Given the description of an element on the screen output the (x, y) to click on. 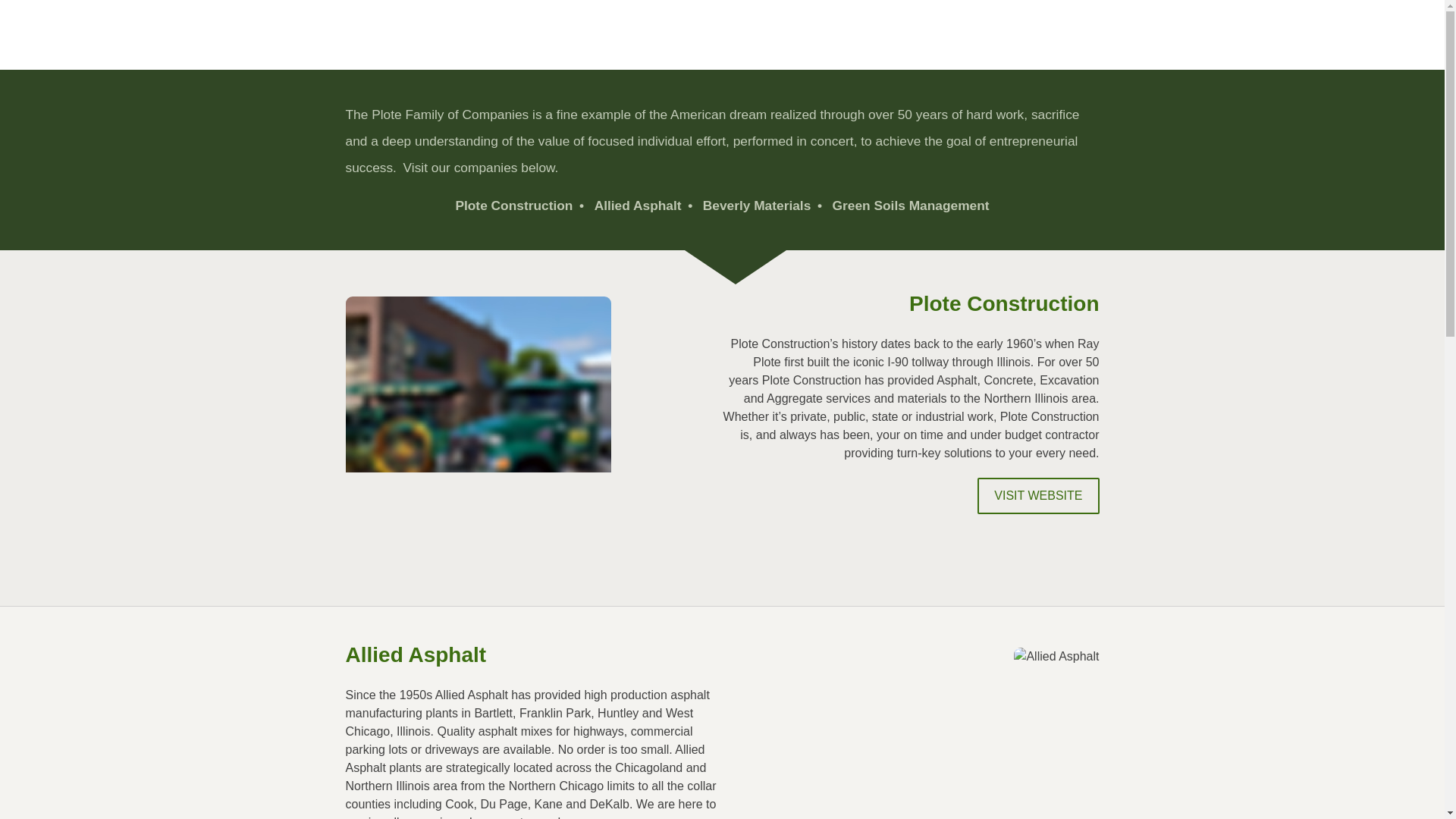
Green Soils Management (911, 205)
About Us (888, 33)
The Plote Companies (1023, 33)
VISIT WEBSITE (1037, 495)
Allied Asphalt (646, 205)
Plote Construction (521, 205)
Beverly Materials (765, 205)
